Given the description of an element on the screen output the (x, y) to click on. 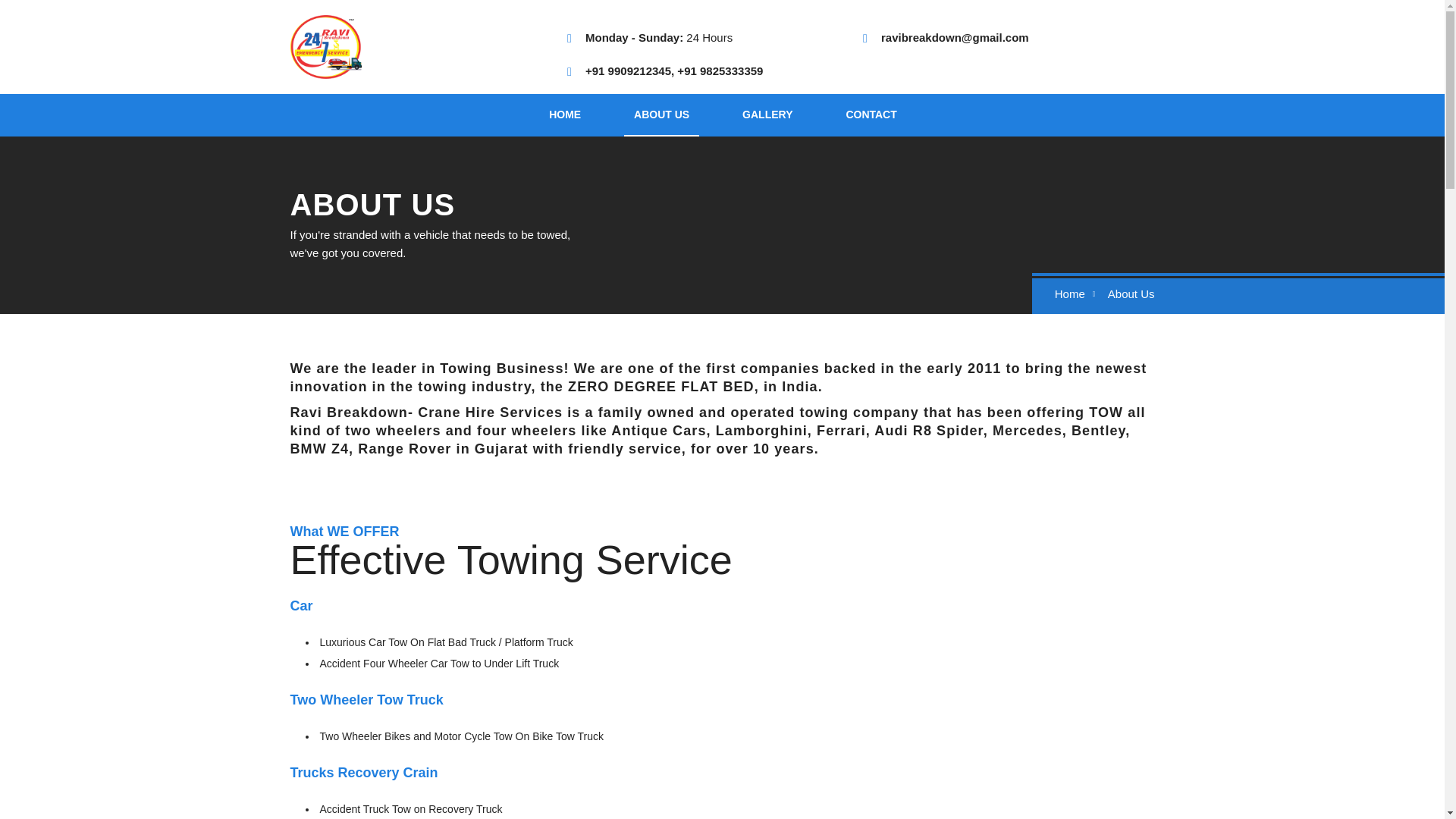
ABOUT US (661, 115)
GALLERY (767, 115)
Home (1069, 293)
HOME (564, 115)
CONTACT (870, 115)
